Given the description of an element on the screen output the (x, y) to click on. 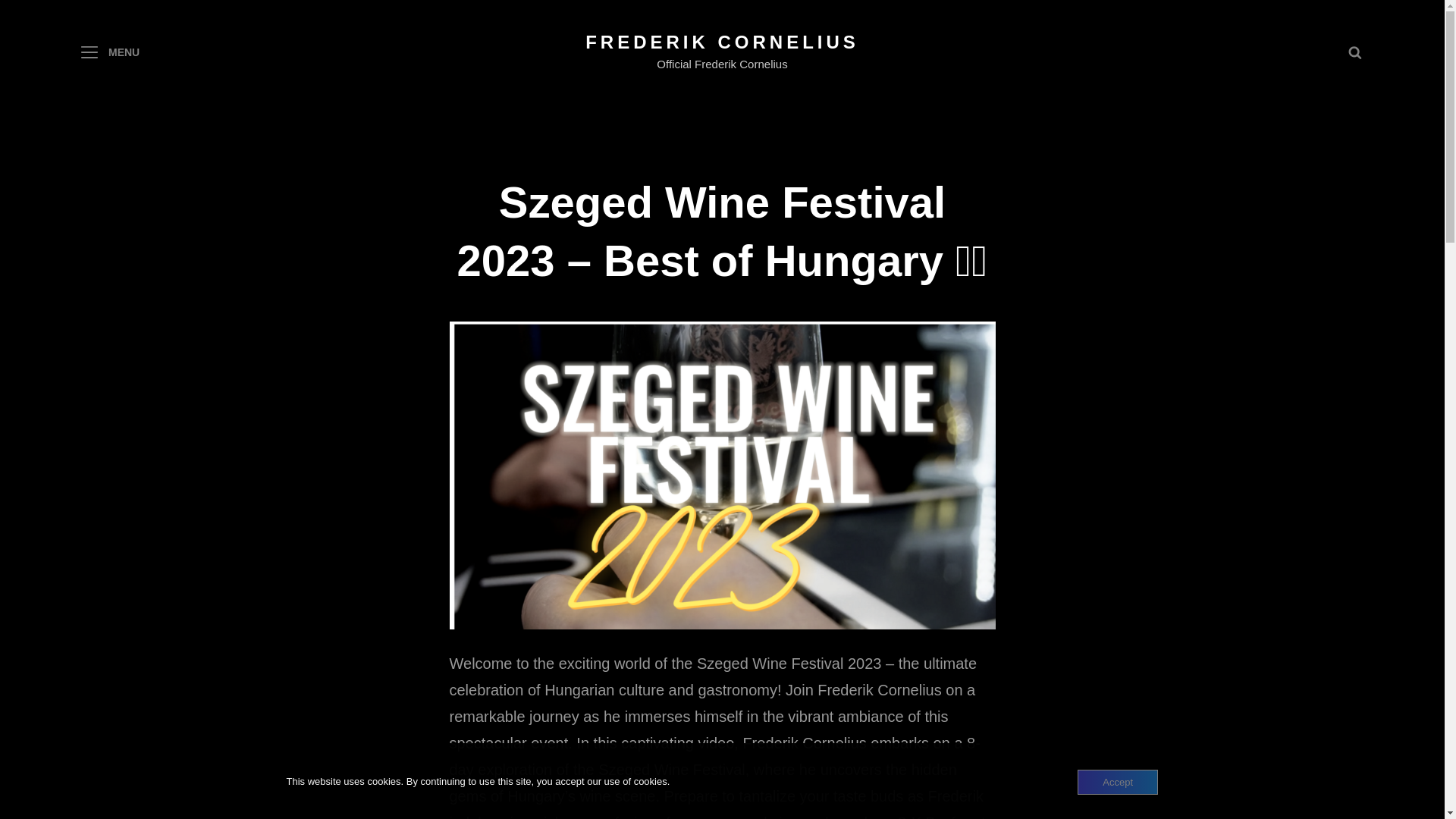
Search (1354, 52)
FREDERIK CORNELIUS (722, 41)
Accept (1117, 781)
MENU (109, 52)
